Given the description of an element on the screen output the (x, y) to click on. 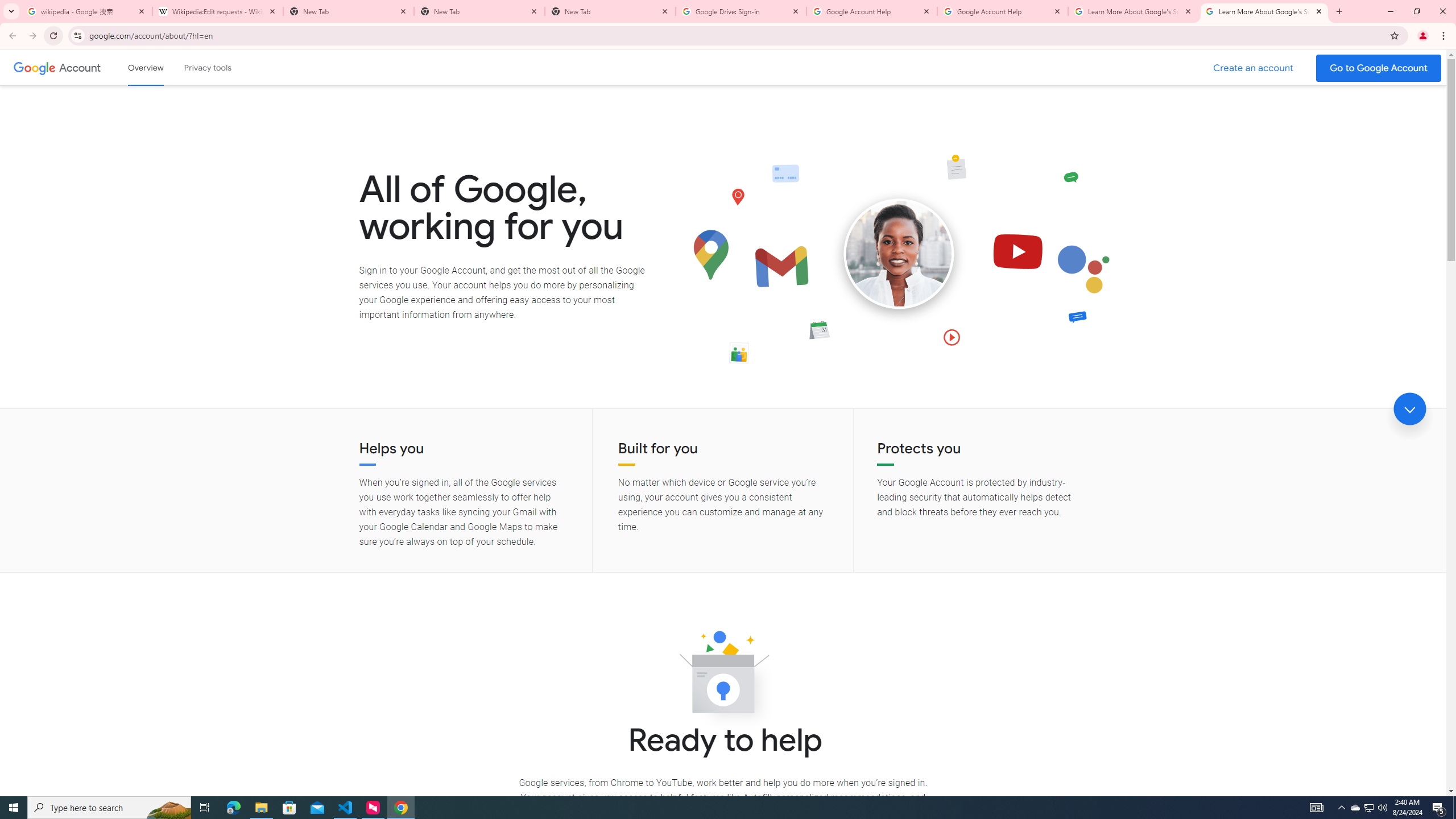
Google Account Help (871, 11)
Skip to Content (162, 65)
Go to your Google Account (1378, 67)
Google logo (34, 67)
Google Account (80, 67)
Privacy tools (207, 67)
Google Account overview (145, 67)
Wikipedia:Edit requests - Wikipedia (217, 11)
